Given the description of an element on the screen output the (x, y) to click on. 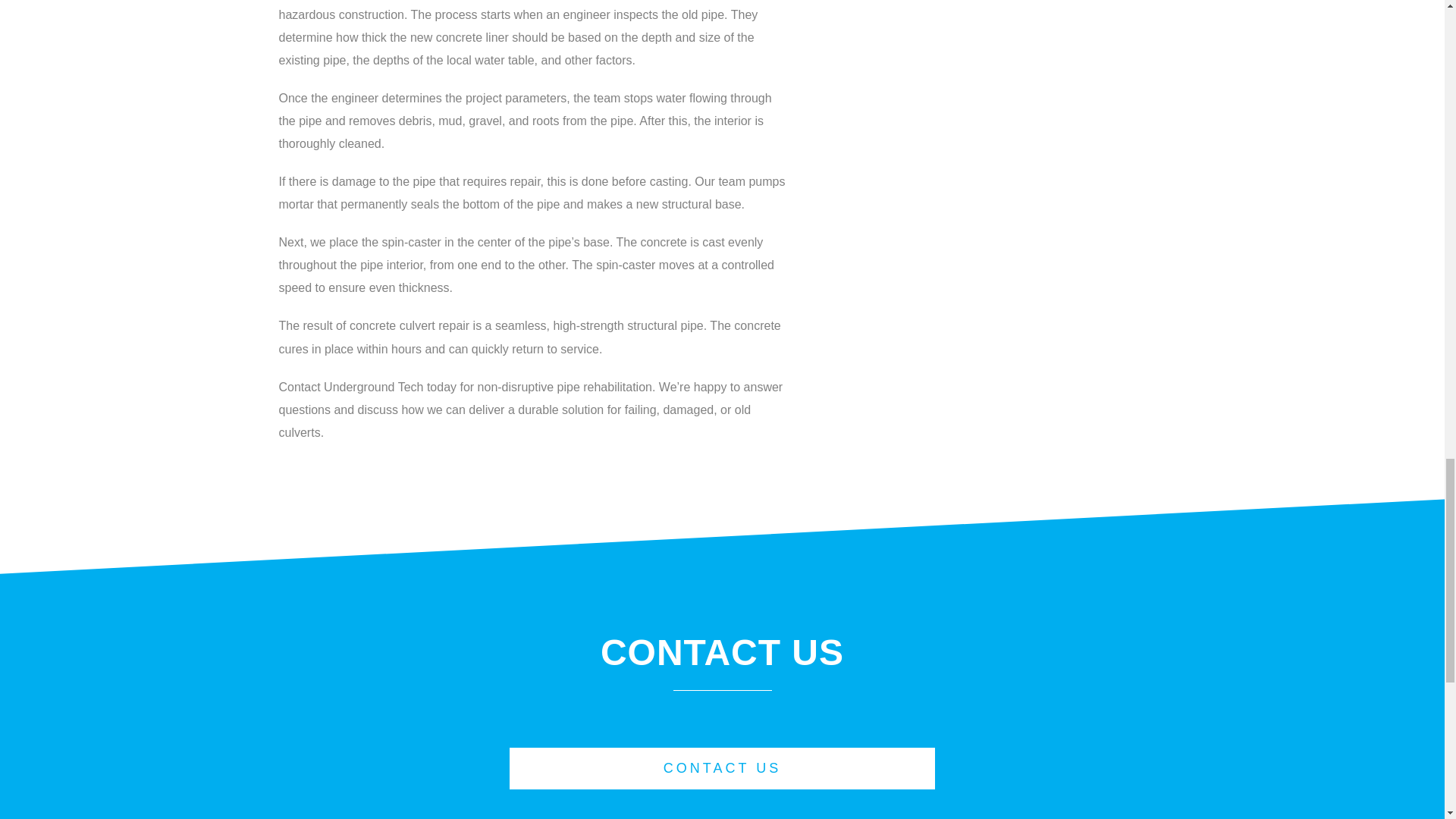
CONTACT US (722, 768)
